Given the description of an element on the screen output the (x, y) to click on. 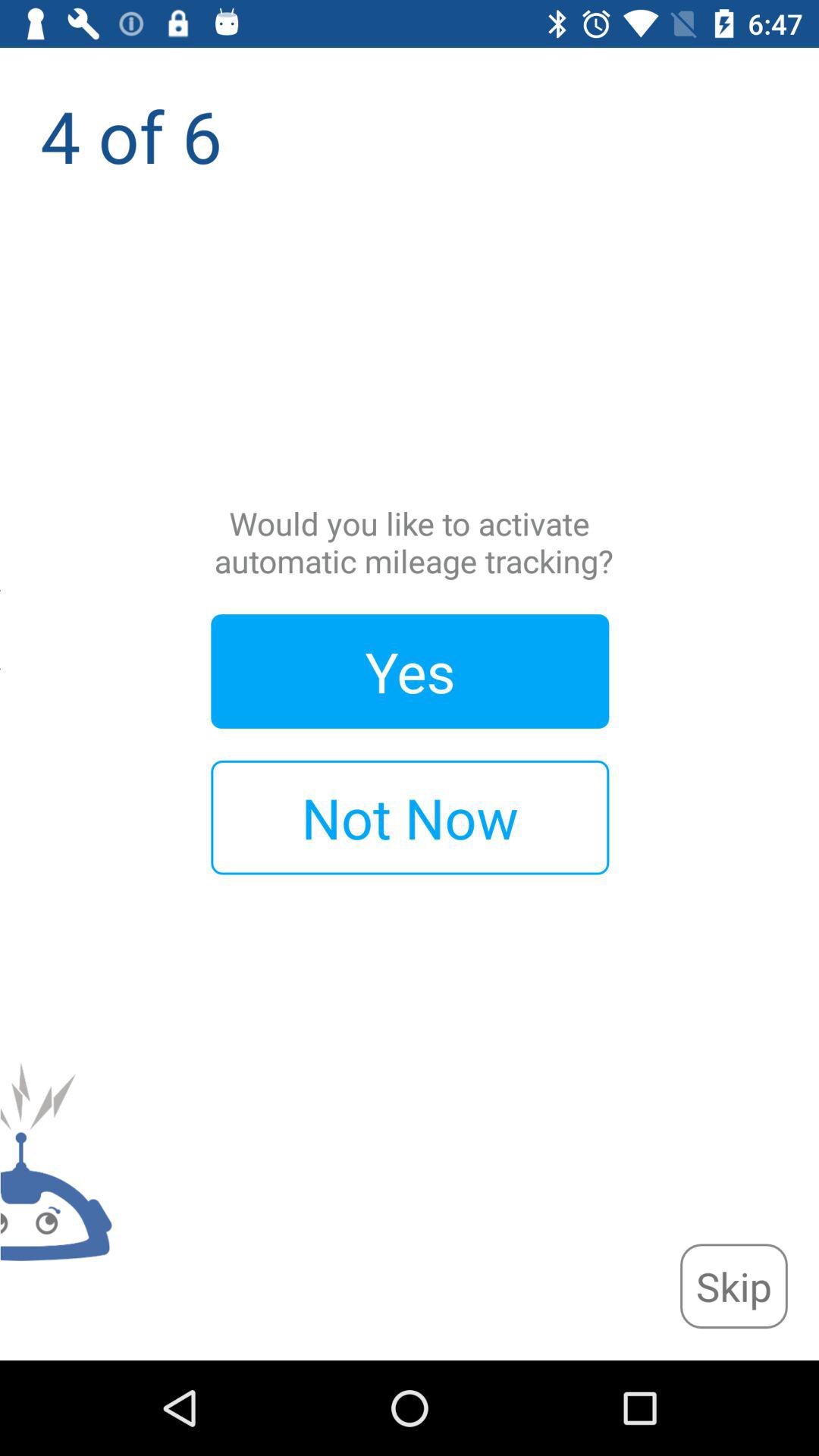
click the app below the would you like item (409, 671)
